Given the description of an element on the screen output the (x, y) to click on. 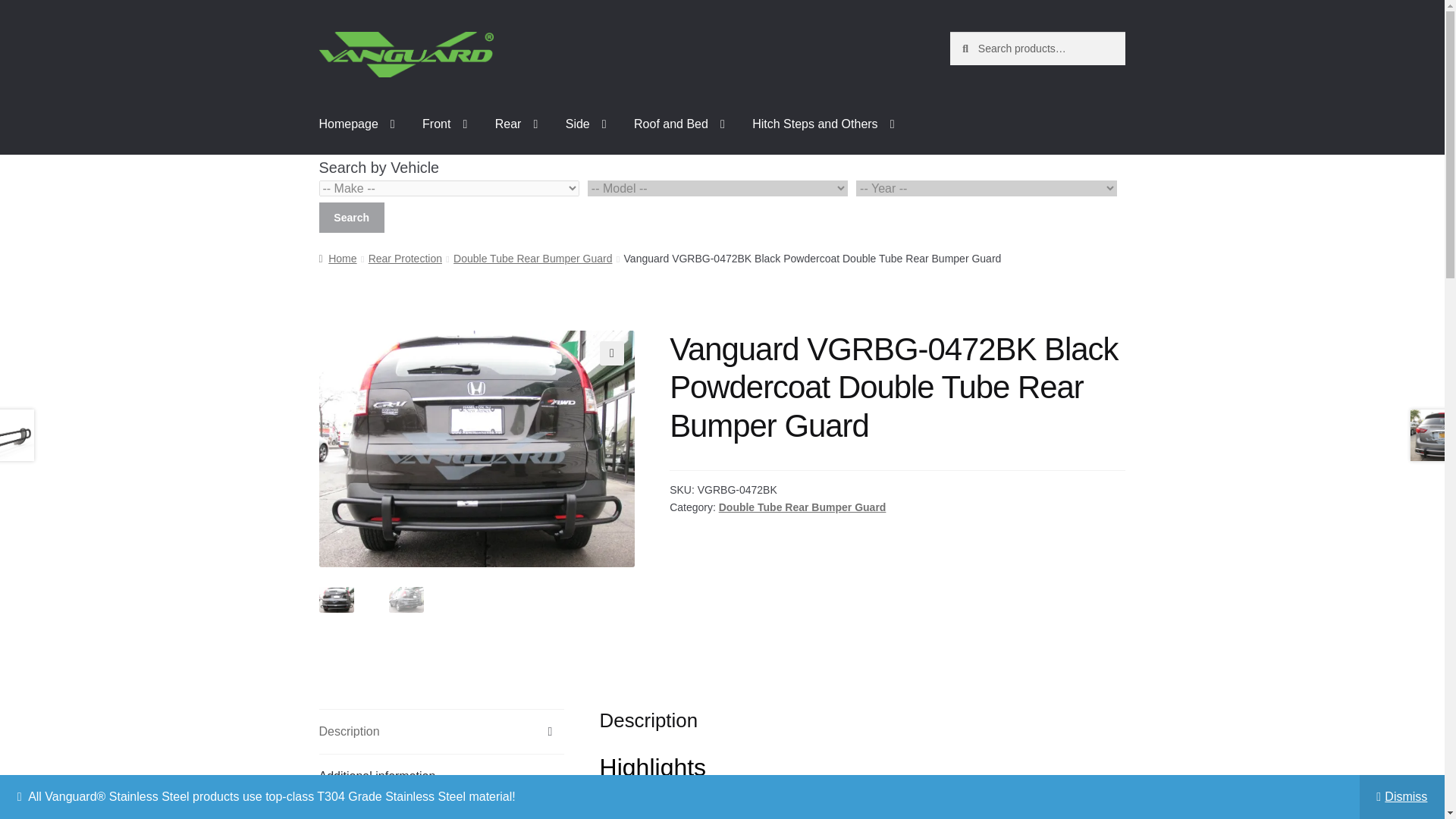
Rear (516, 124)
Search (351, 217)
Homepage (357, 124)
Front (444, 124)
Side (585, 124)
